Given the description of an element on the screen output the (x, y) to click on. 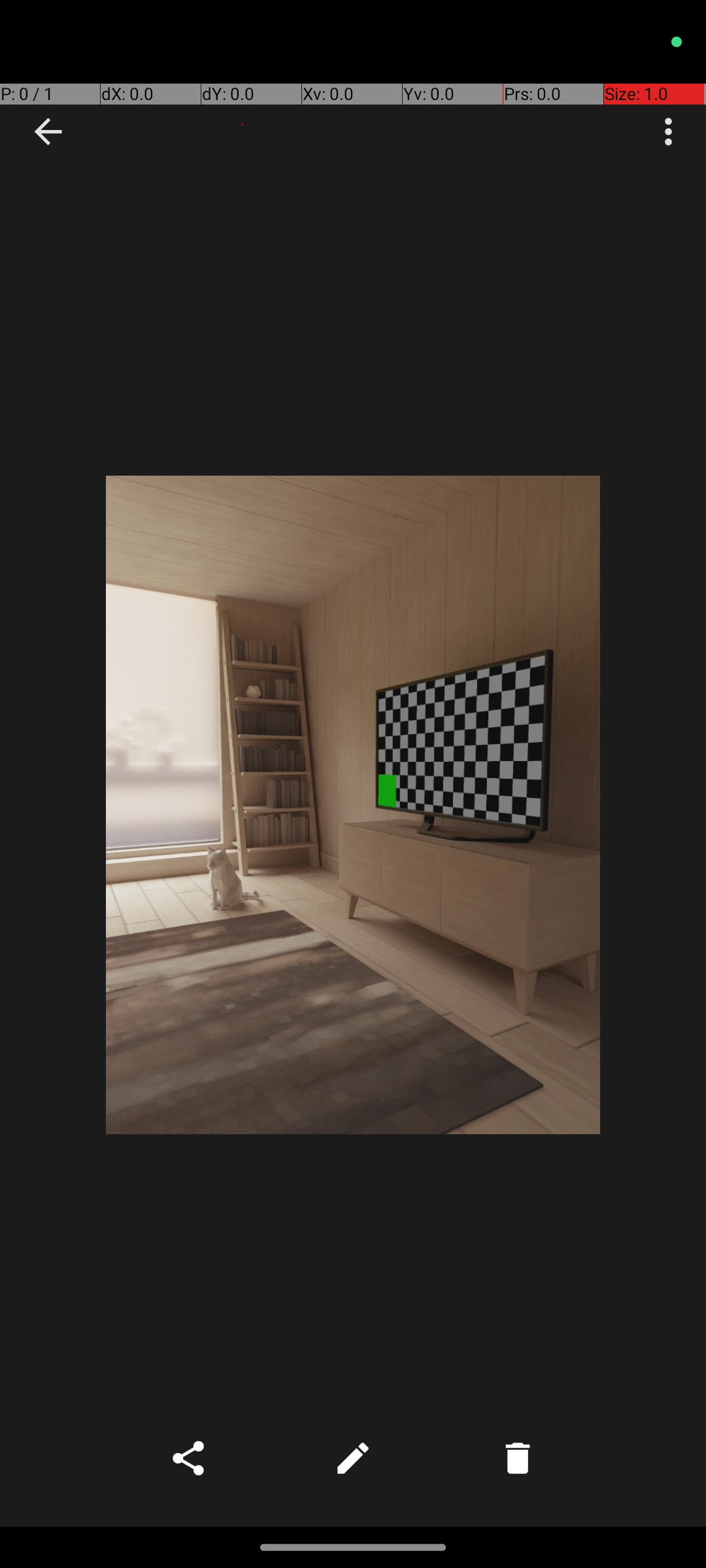
Photo taken on Oct 15, 2023 15:34:17 Element type: android.widget.ImageView (352, 804)
